Given the description of an element on the screen output the (x, y) to click on. 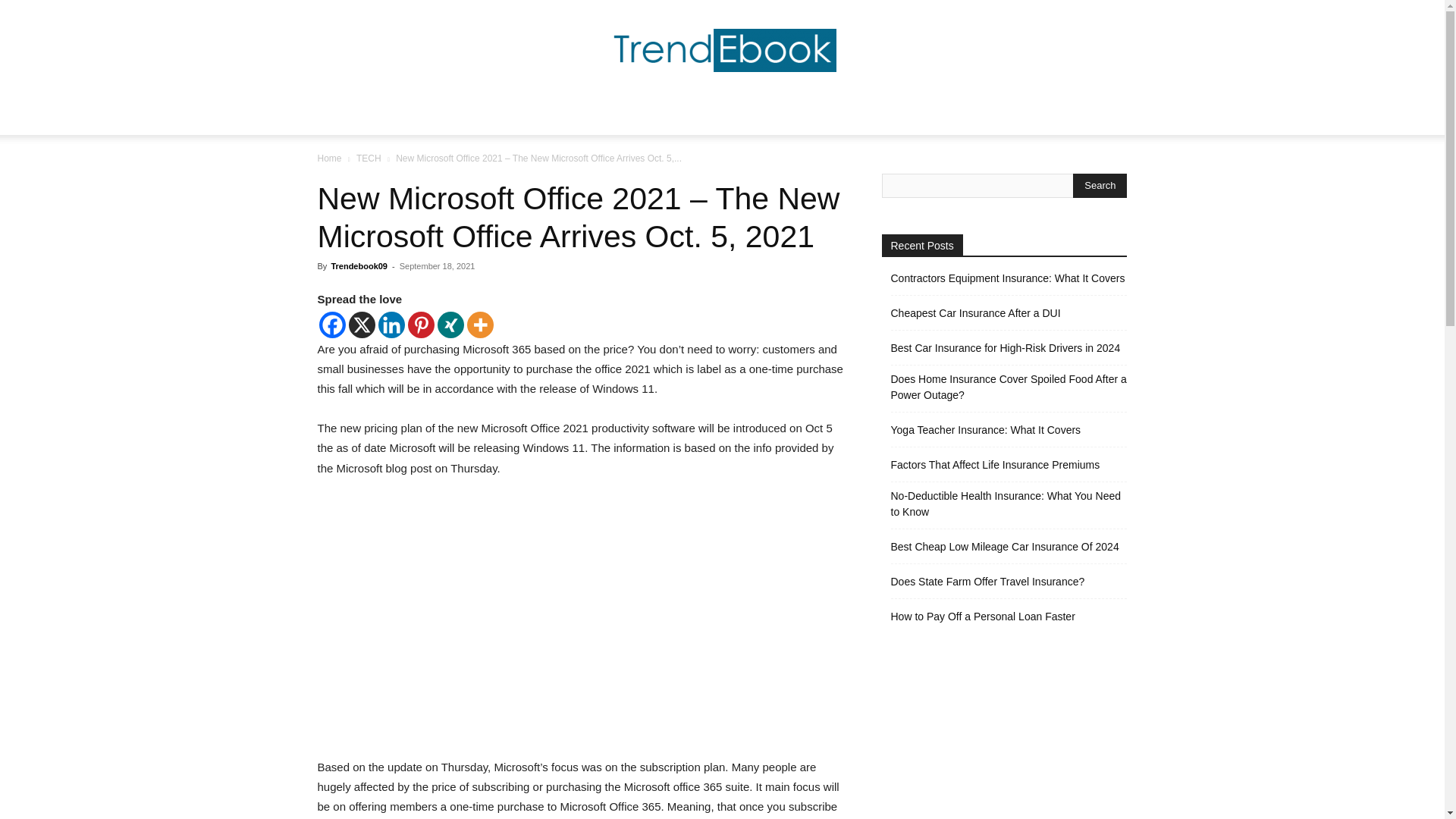
More (480, 325)
HOME (472, 116)
INSURANCE (820, 116)
X (362, 325)
ABOUT US (959, 116)
Linkedin (390, 325)
TECH (368, 158)
REVIEW (682, 116)
EXAM (624, 116)
xing (449, 325)
LOANS (892, 116)
View all posts in TECH (368, 158)
Search (1099, 185)
Search (1085, 177)
Home (328, 158)
